Given the description of an element on the screen output the (x, y) to click on. 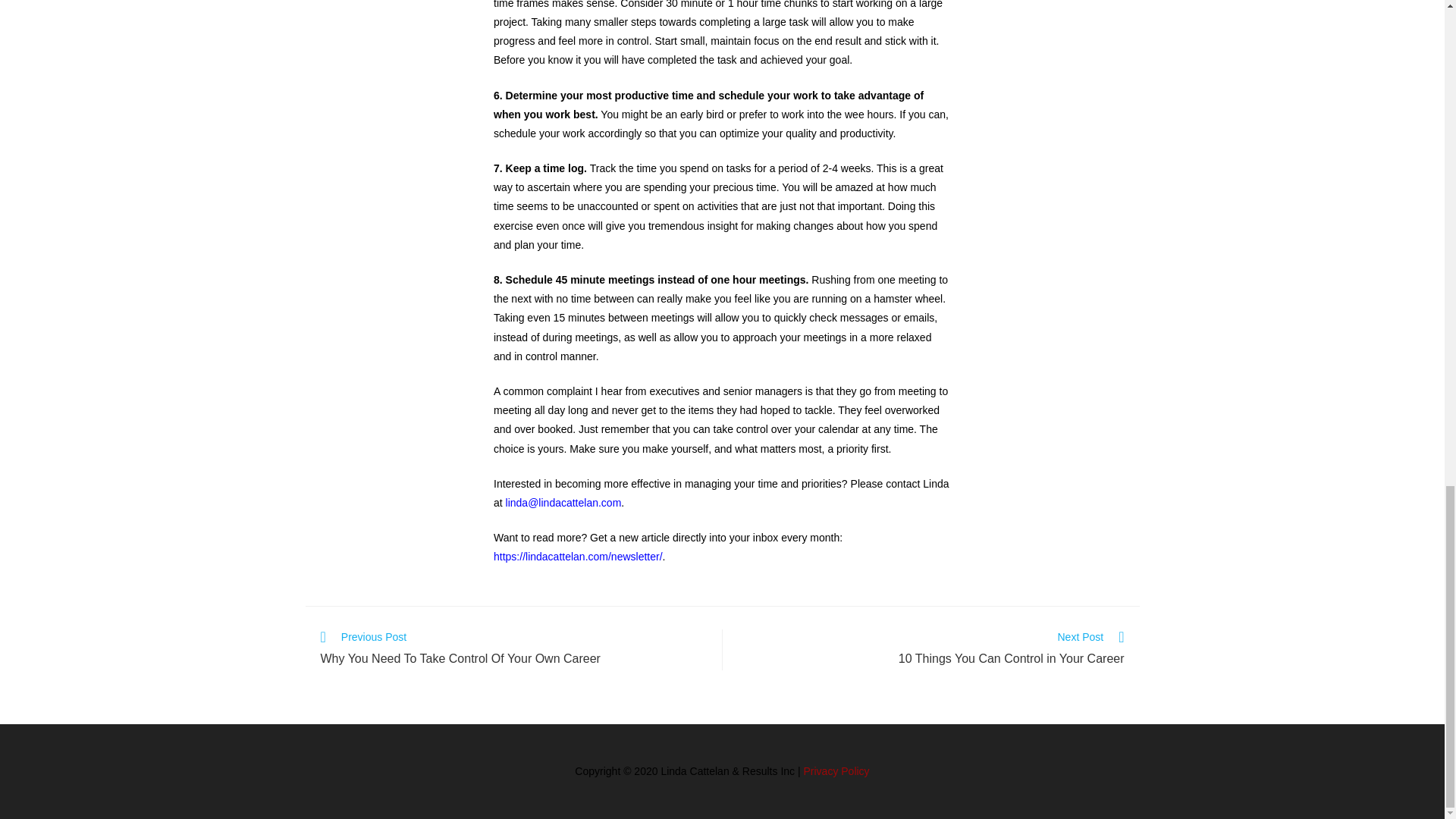
Privacy Policy (930, 649)
